Given the description of an element on the screen output the (x, y) to click on. 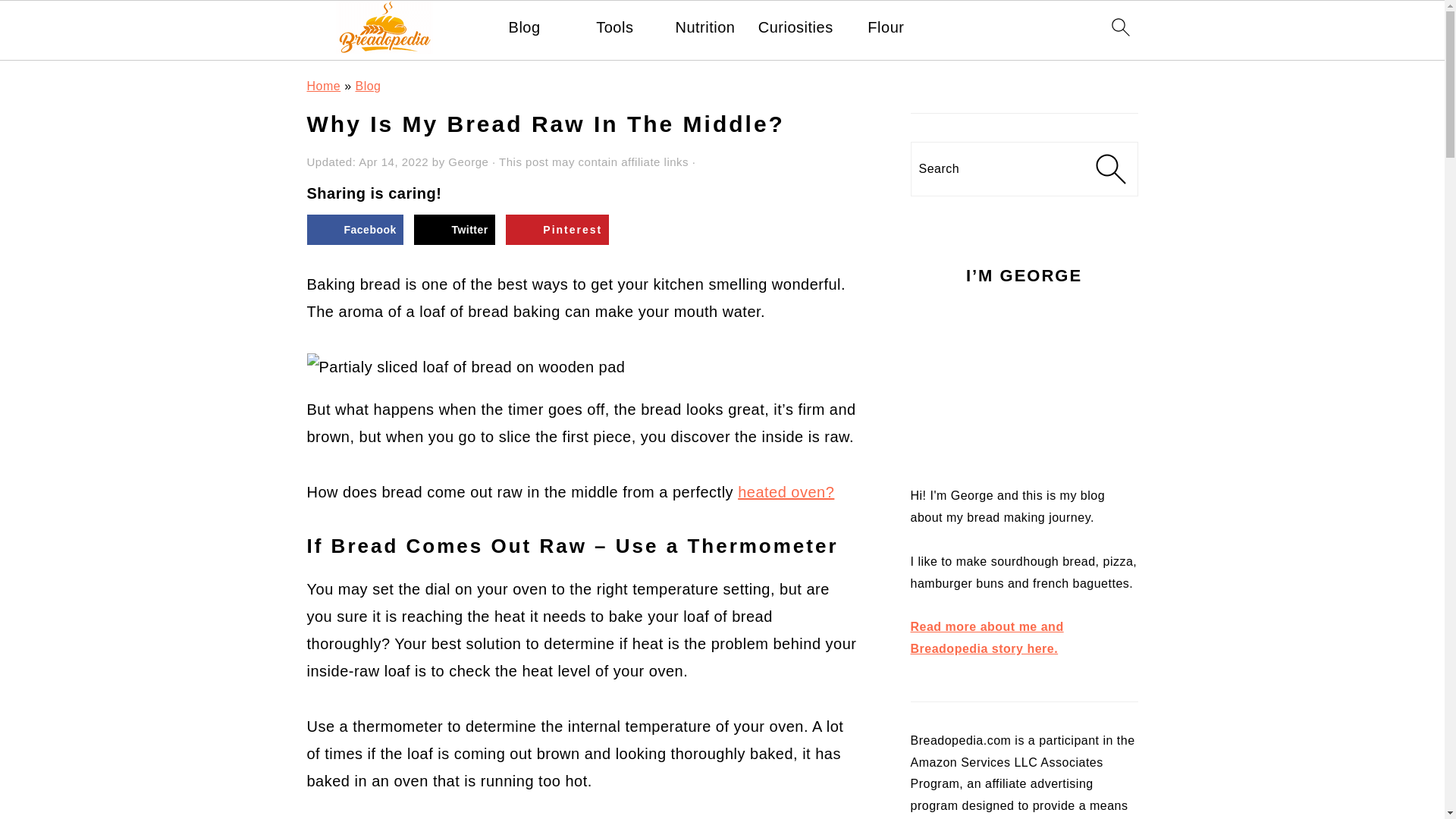
Flour (885, 27)
Share on Facebook (354, 229)
Share on X (454, 229)
Tools (614, 27)
Save to Pinterest (556, 229)
Curiosities (795, 27)
Nutrition (705, 27)
Blog (524, 27)
search icon (1119, 26)
